Given the description of an element on the screen output the (x, y) to click on. 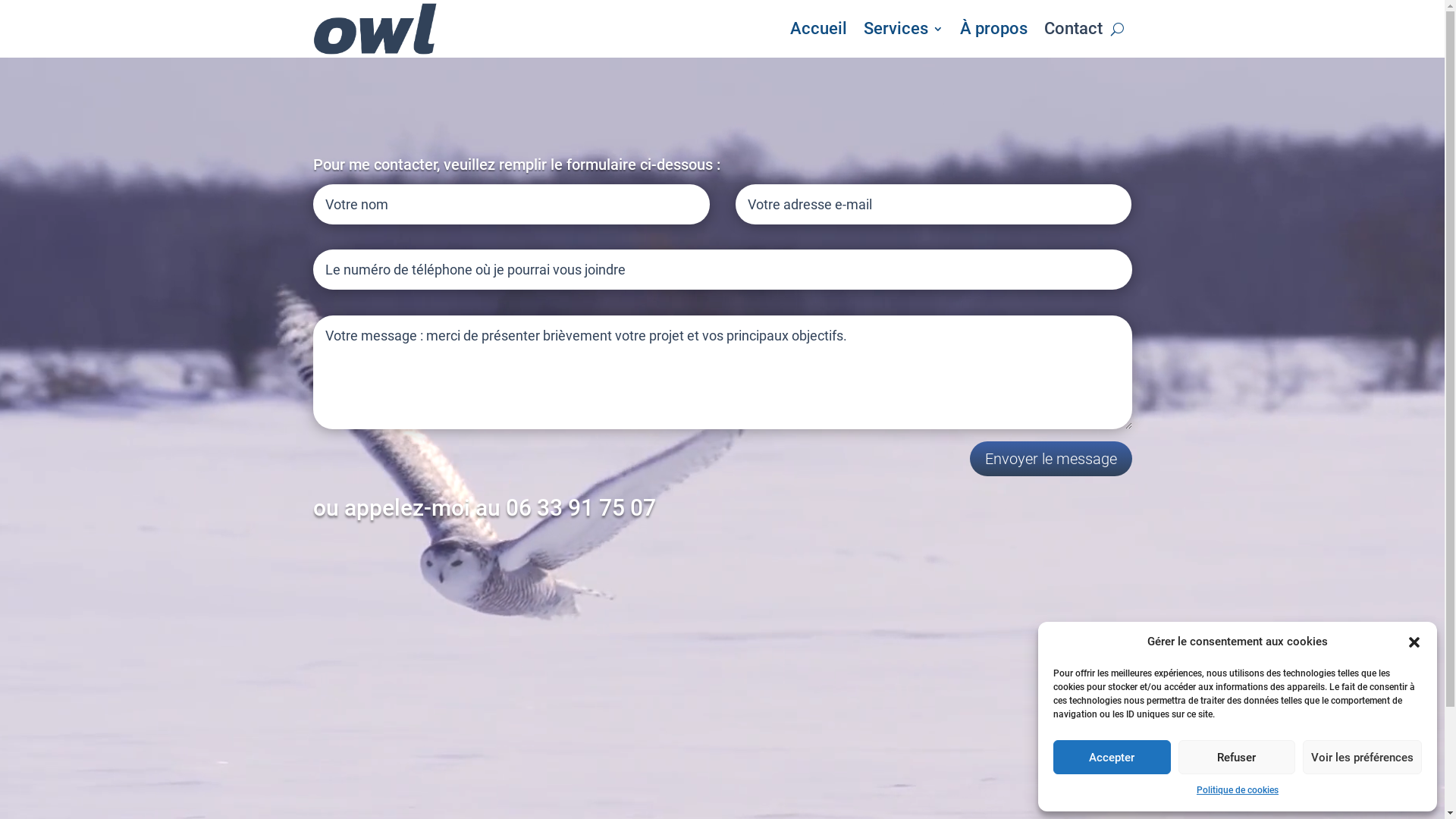
Contact Element type: text (1072, 28)
Accepter Element type: text (1111, 757)
Envoyer le message Element type: text (1050, 458)
Refuser Element type: text (1236, 757)
Services Element type: text (902, 28)
Accueil Element type: text (818, 28)
Politique de cookies Element type: text (1237, 790)
